Given the description of an element on the screen output the (x, y) to click on. 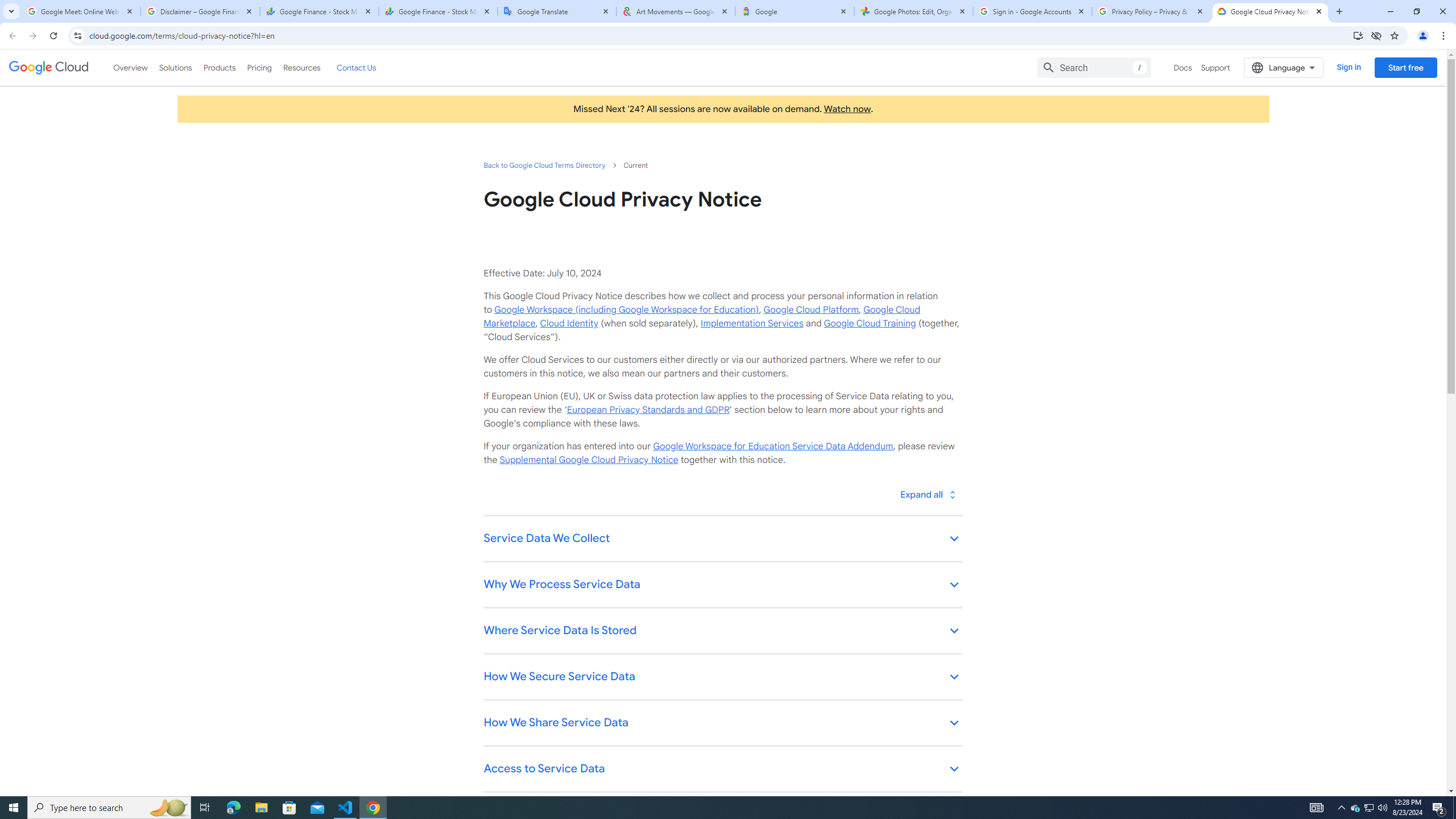
Why We Process Service Data keyboard_arrow_down (722, 585)
Google Workspace for Education Service Data Addendum (772, 446)
Google (794, 11)
Sign in - Google Accounts (1032, 11)
Install Google Cloud (1358, 35)
Implementation Services (751, 323)
European Privacy Standards and GDPR (647, 410)
Google Cloud Training (869, 323)
Google Translate (556, 11)
Google Cloud Privacy Notice (1270, 11)
How We Secure Service Data keyboard_arrow_down (722, 677)
